Given the description of an element on the screen output the (x, y) to click on. 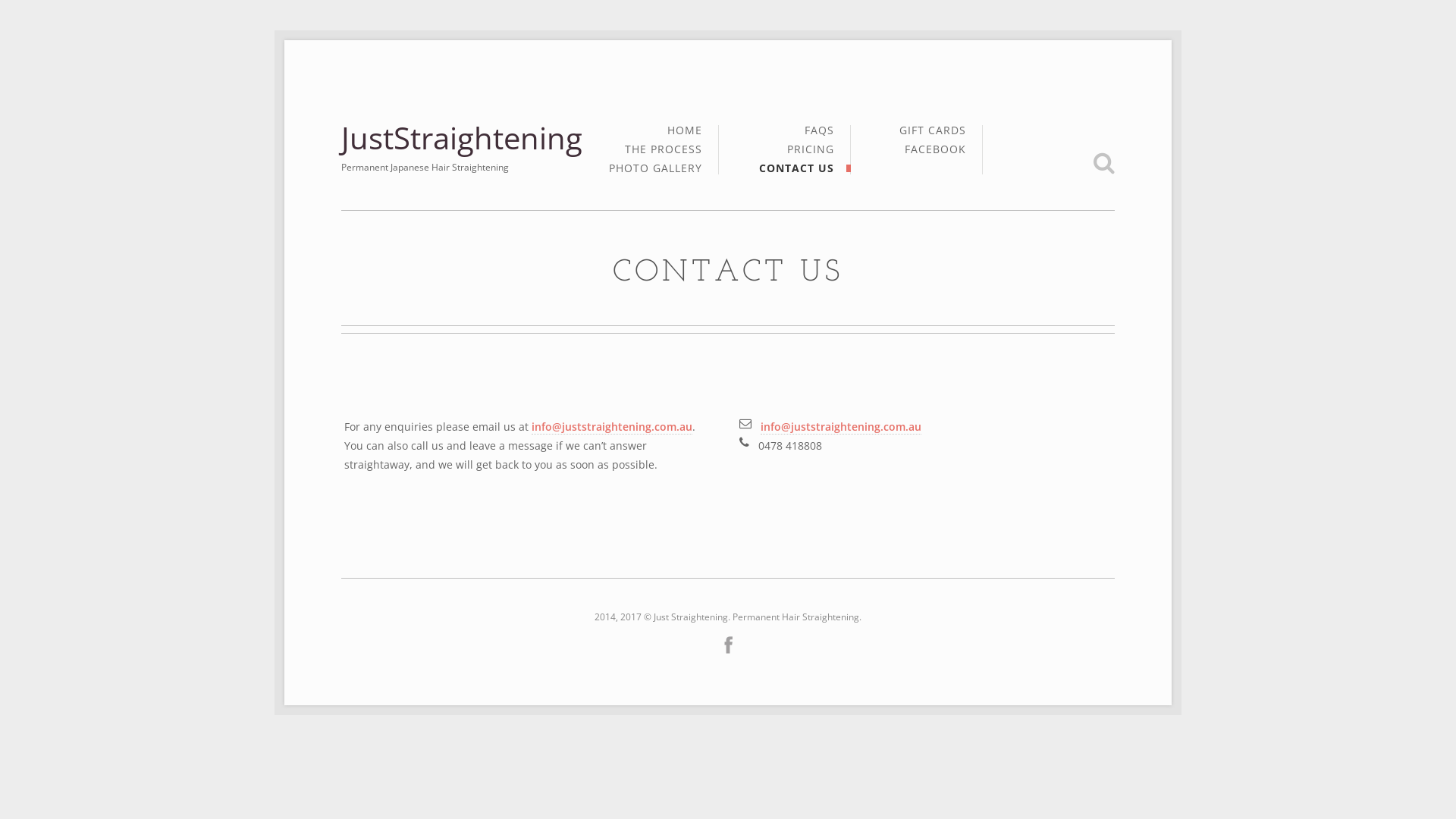
PHOTO GALLERY Element type: text (655, 168)
CONTACT US Element type: text (796, 168)
PRICING Element type: text (810, 153)
THE PROCESS Element type: text (663, 153)
Facebook Element type: hover (727, 644)
GIFT CARDS Element type: text (932, 134)
info@juststraightening.com.au Element type: text (840, 426)
info@juststraightening.com.au Element type: text (611, 426)
HOME Element type: text (684, 134)
JustStraightening Element type: text (461, 137)
FACEBOOK Element type: text (935, 149)
FAQS Element type: text (819, 134)
